Given the description of an element on the screen output the (x, y) to click on. 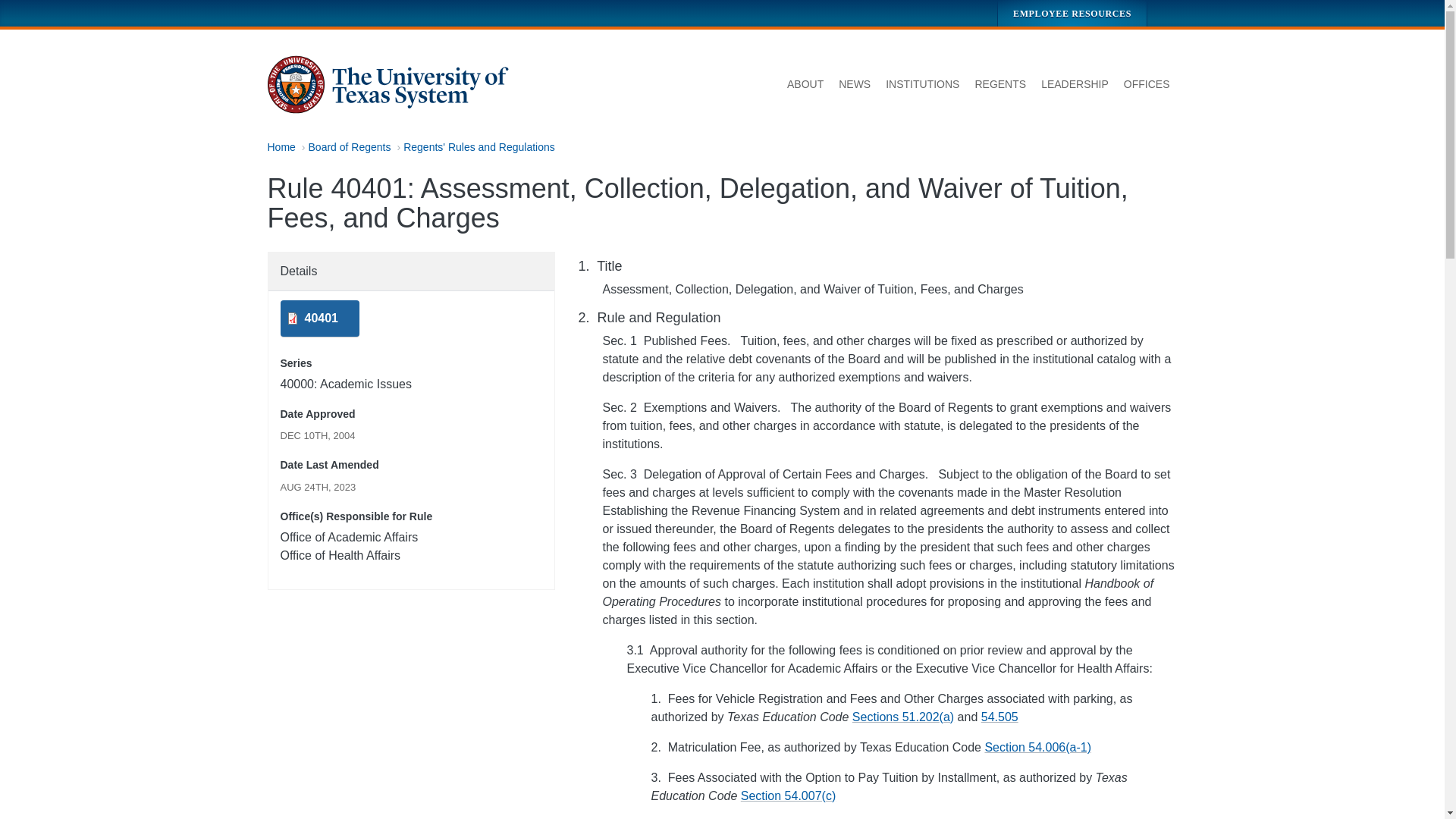
Home (387, 84)
Regents' Rules and Regulations (478, 146)
LEADERSHIP (1074, 84)
Home (280, 146)
ABOUT (804, 84)
54.505 (999, 716)
EMPLOYEE RESOURCES (1072, 13)
OFFICES (1146, 84)
Board of Regents (349, 146)
The University of Texas System (387, 84)
